Given the description of an element on the screen output the (x, y) to click on. 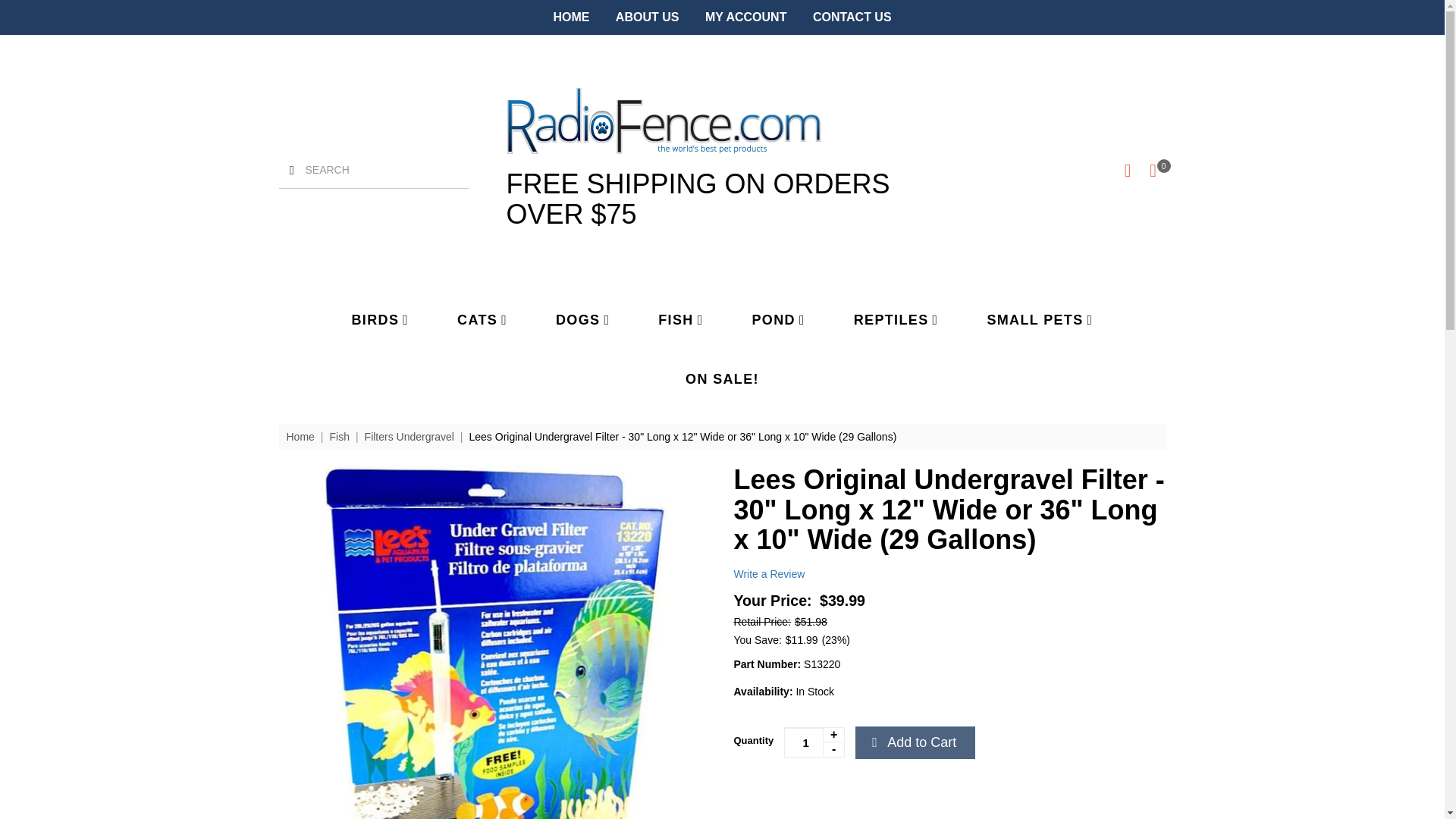
HOME (571, 16)
ABOUT US (647, 16)
CONTACT US (851, 16)
BIRDS (380, 319)
1 (814, 742)
MY ACCOUNT (745, 16)
0 (1153, 170)
